Given the description of an element on the screen output the (x, y) to click on. 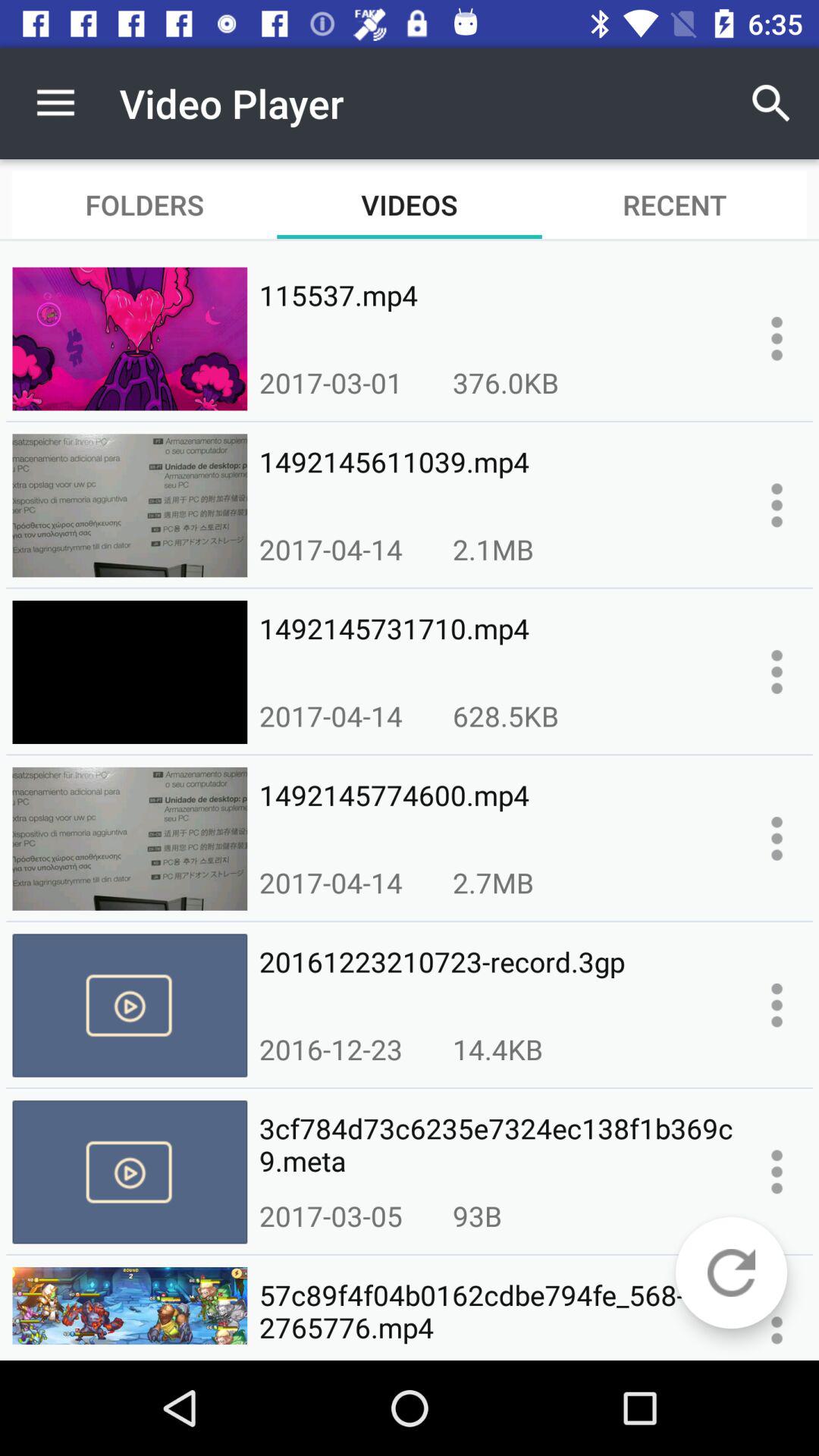
view video options (776, 1171)
